Given the description of an element on the screen output the (x, y) to click on. 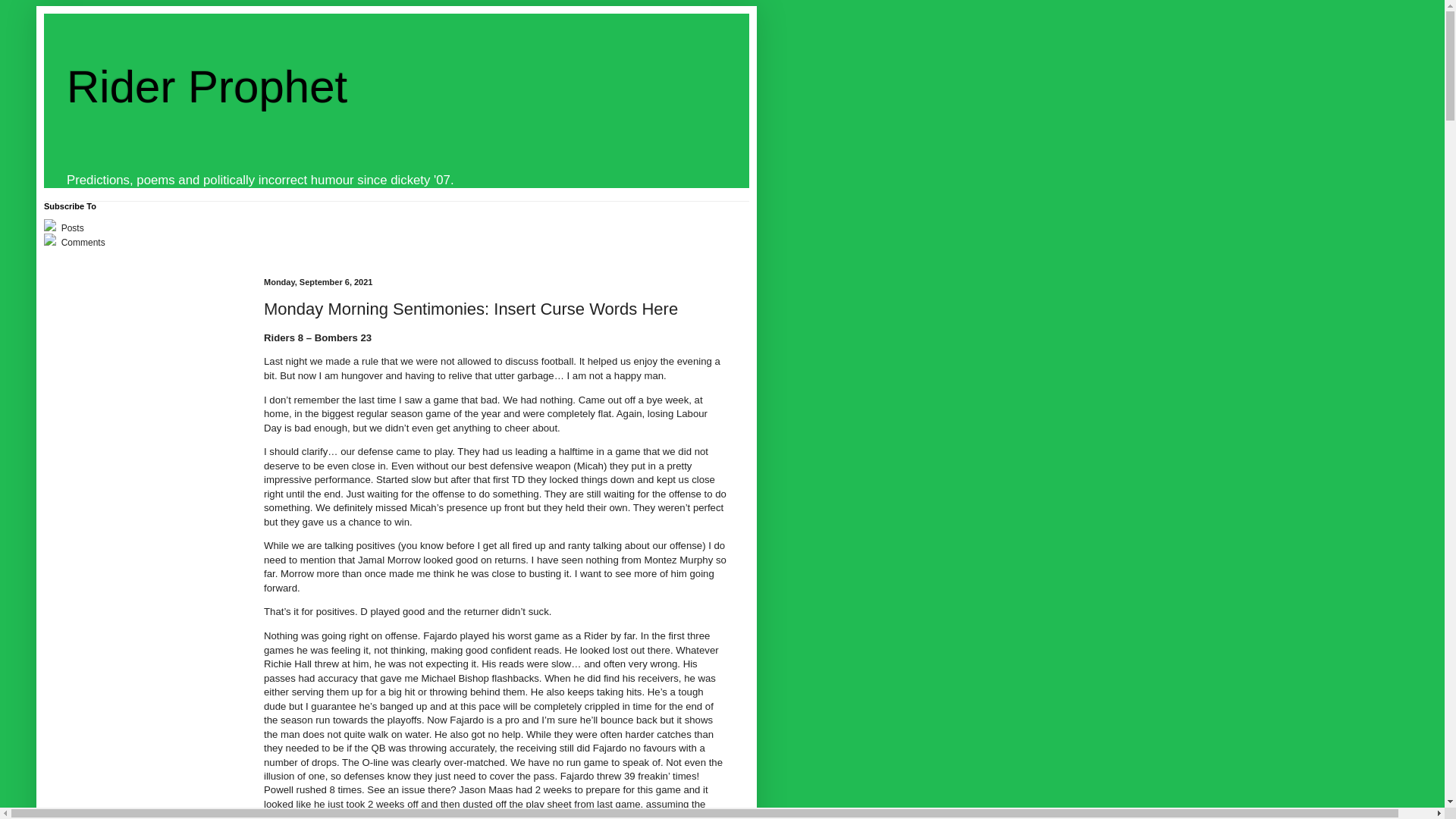
Rider Prophet (206, 86)
